Given the description of an element on the screen output the (x, y) to click on. 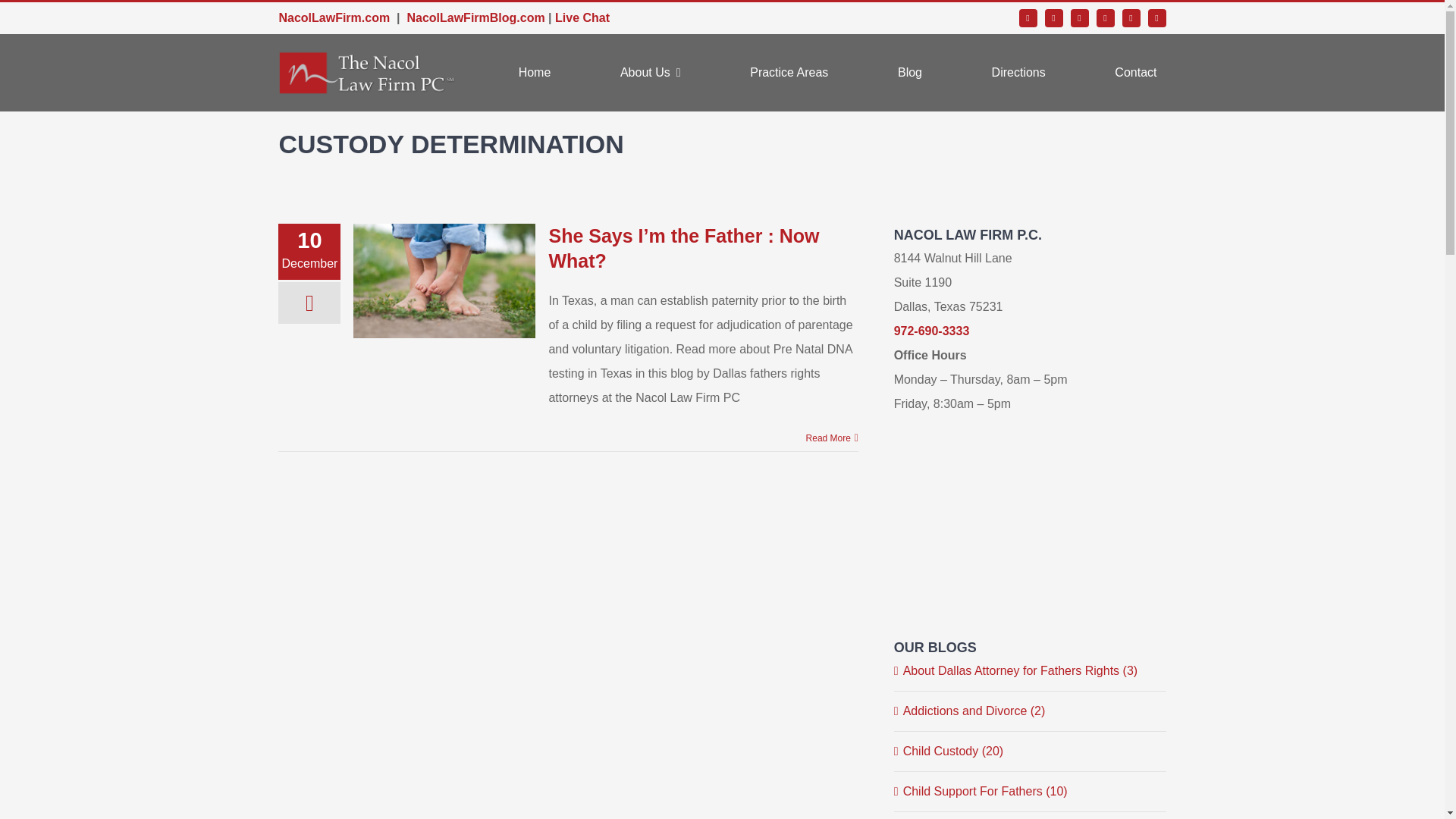
NacolLawFirm.com (334, 17)
NacolLawFirmBlog.com (475, 17)
972-690-3333 (931, 330)
Live Chat (582, 17)
Practice Areas (789, 72)
Home (534, 72)
Contact (1135, 72)
About Us (650, 72)
Directions (1018, 72)
Read More (828, 438)
Blog (909, 72)
